Given the description of an element on the screen output the (x, y) to click on. 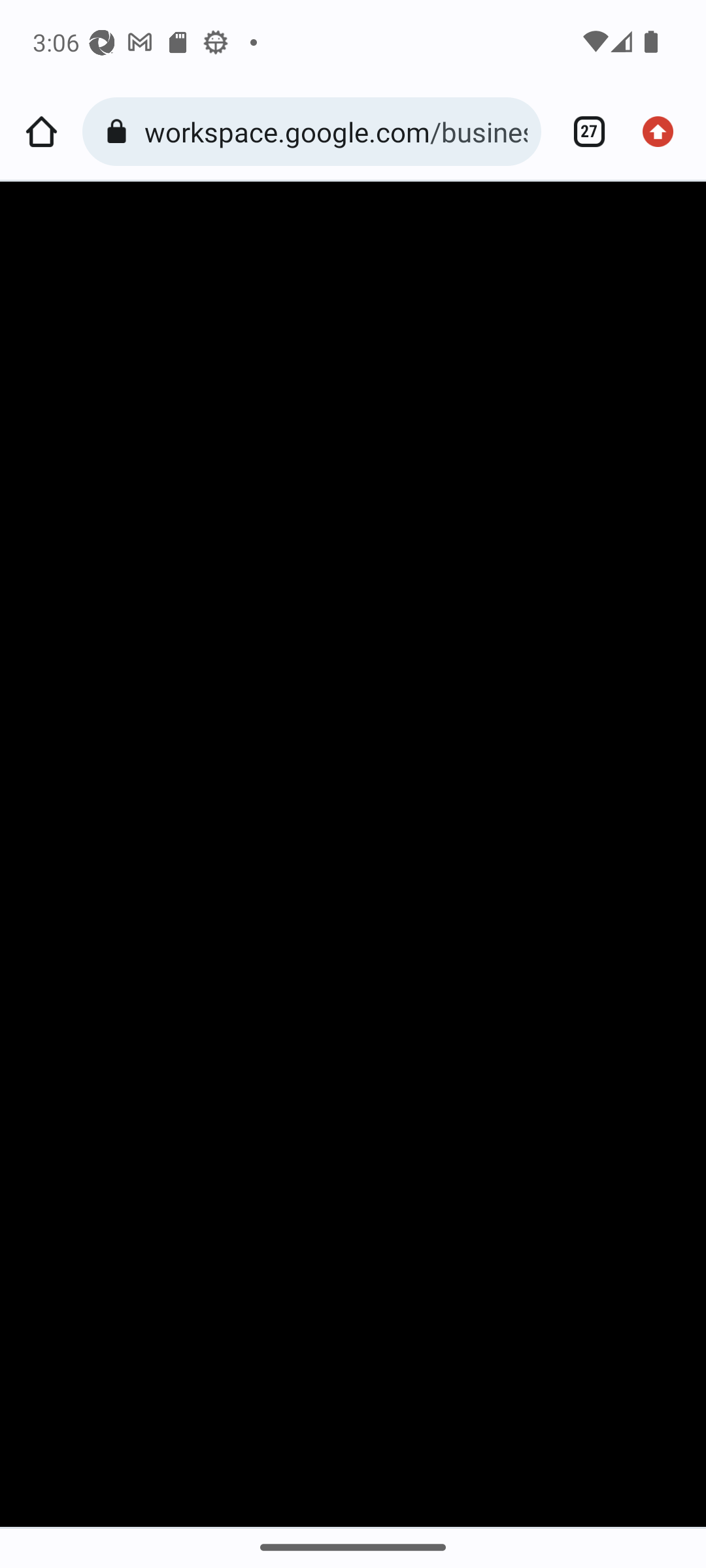
Home (41, 131)
Connection is secure (120, 131)
Switch or close tabs (582, 131)
Update available. More options (664, 131)
